Given the description of an element on the screen output the (x, y) to click on. 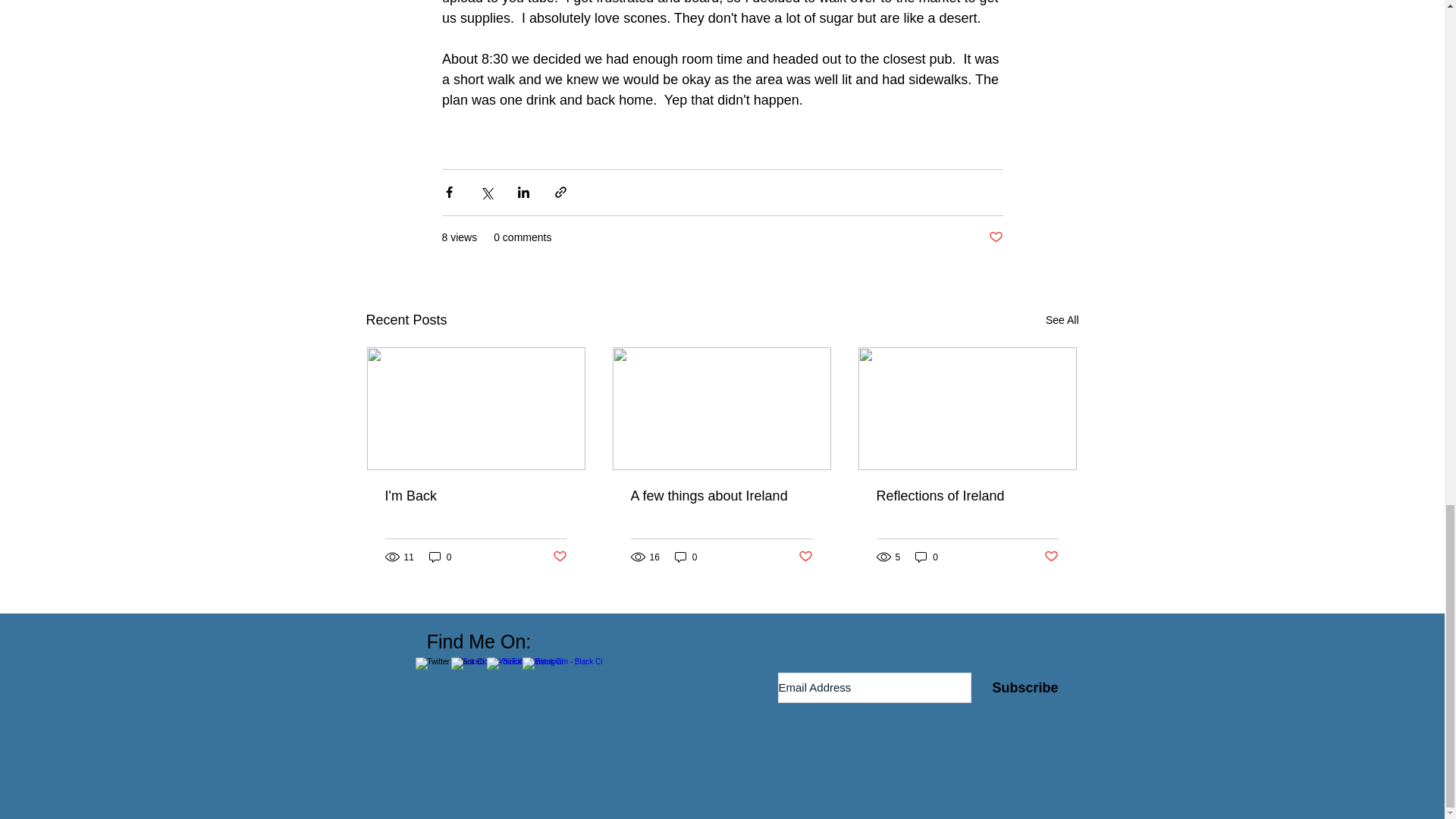
Post not marked as liked (804, 556)
Post not marked as liked (1050, 556)
Post not marked as liked (995, 236)
0 (926, 556)
See All (1061, 320)
0 (685, 556)
Reflections of Ireland (967, 496)
0 (440, 556)
Subscribe (1024, 686)
I'm Back (476, 496)
